Given the description of an element on the screen output the (x, y) to click on. 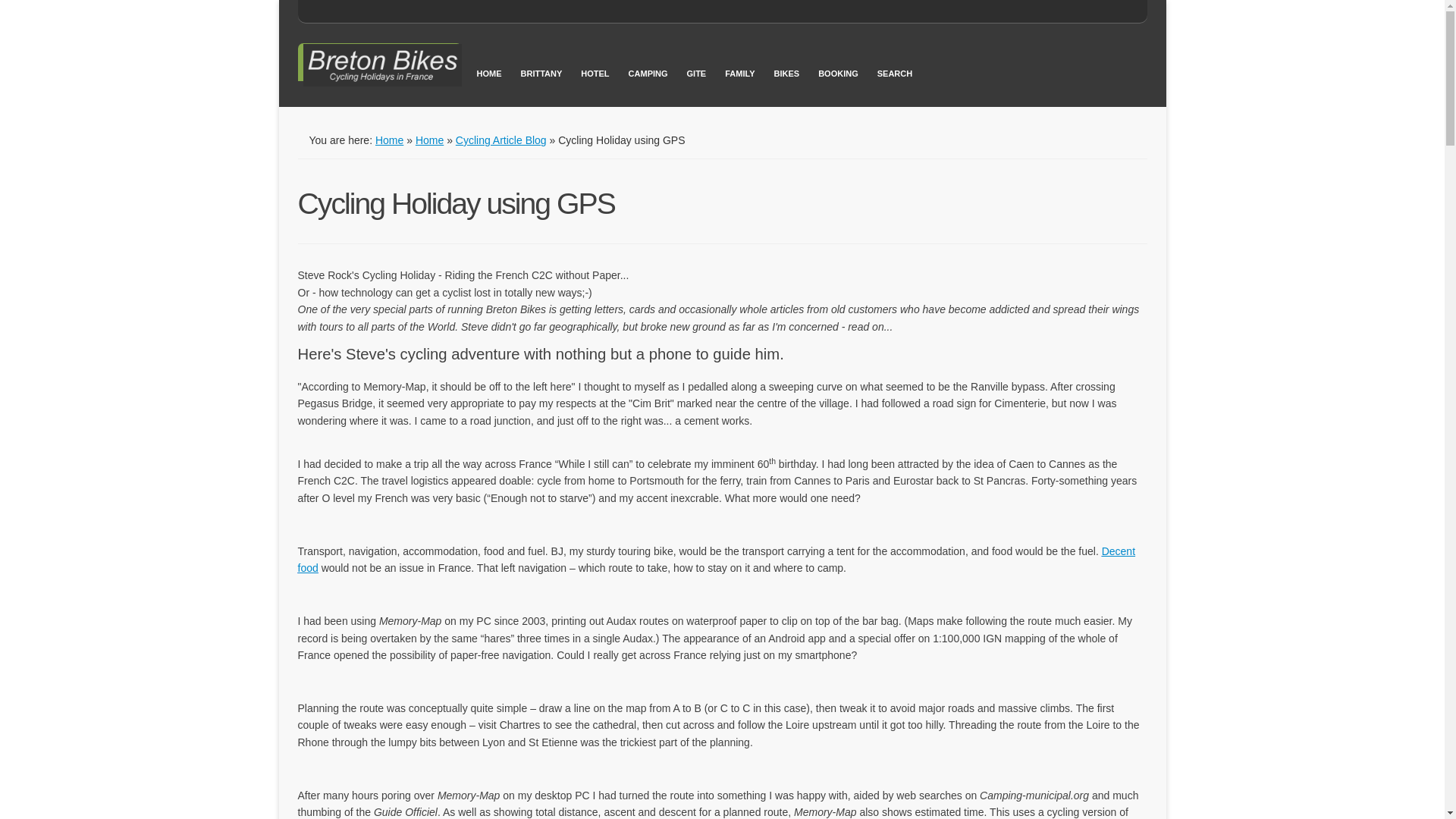
Follow Us (1077, 12)
Twitter (1077, 12)
Google Plus (1101, 12)
Google Plus (1101, 12)
BRITTANY (542, 71)
CAMPING (650, 71)
Facebook (1125, 12)
Facebook (1125, 12)
